Given the description of an element on the screen output the (x, y) to click on. 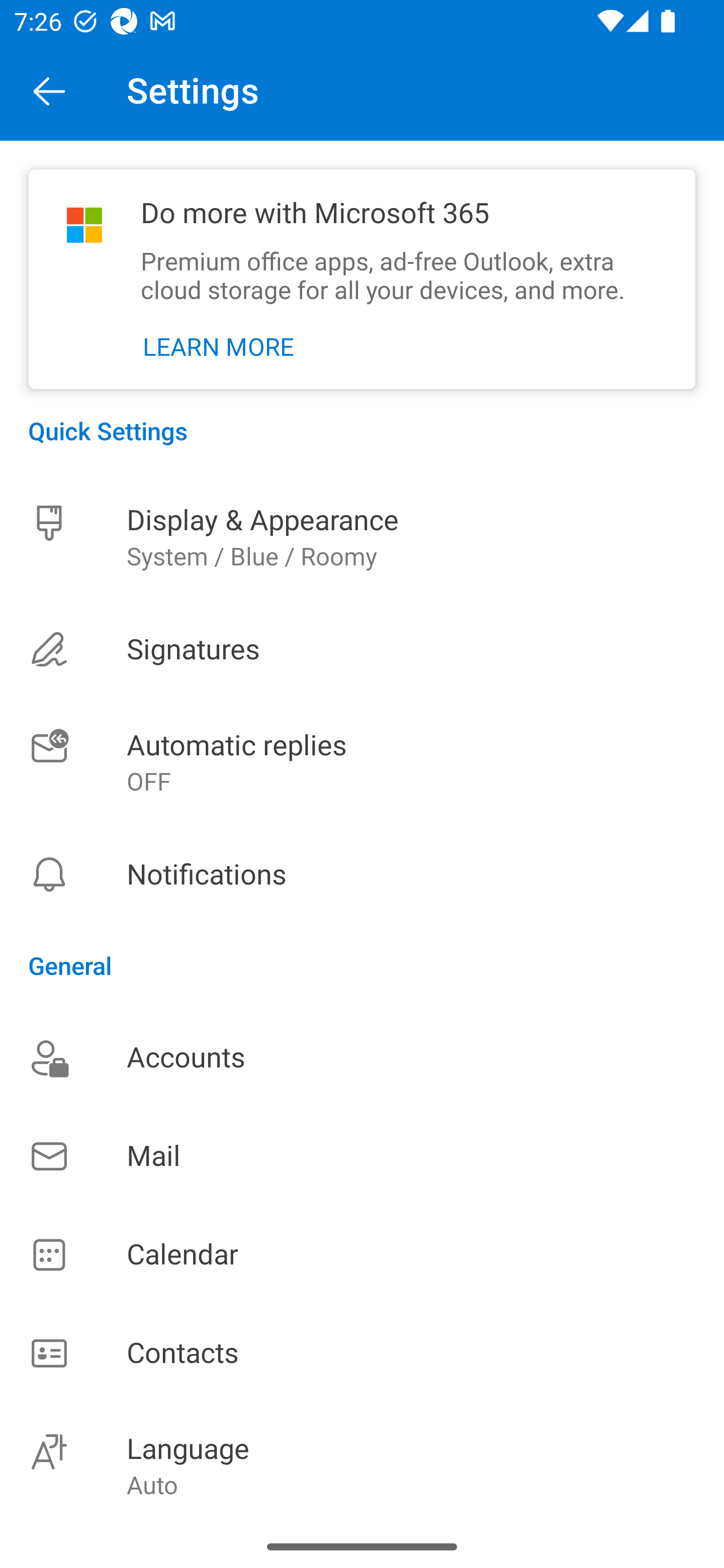
Back (49, 90)
LEARN MORE (218, 346)
Display & Appearance System / Blue / Roomy (362, 536)
Signatures (362, 649)
Automatic replies OFF (362, 762)
Notifications (362, 874)
Accounts (362, 1057)
Mail (362, 1156)
Calendar (362, 1254)
Contacts (362, 1353)
Language Auto (362, 1464)
